Given the description of an element on the screen output the (x, y) to click on. 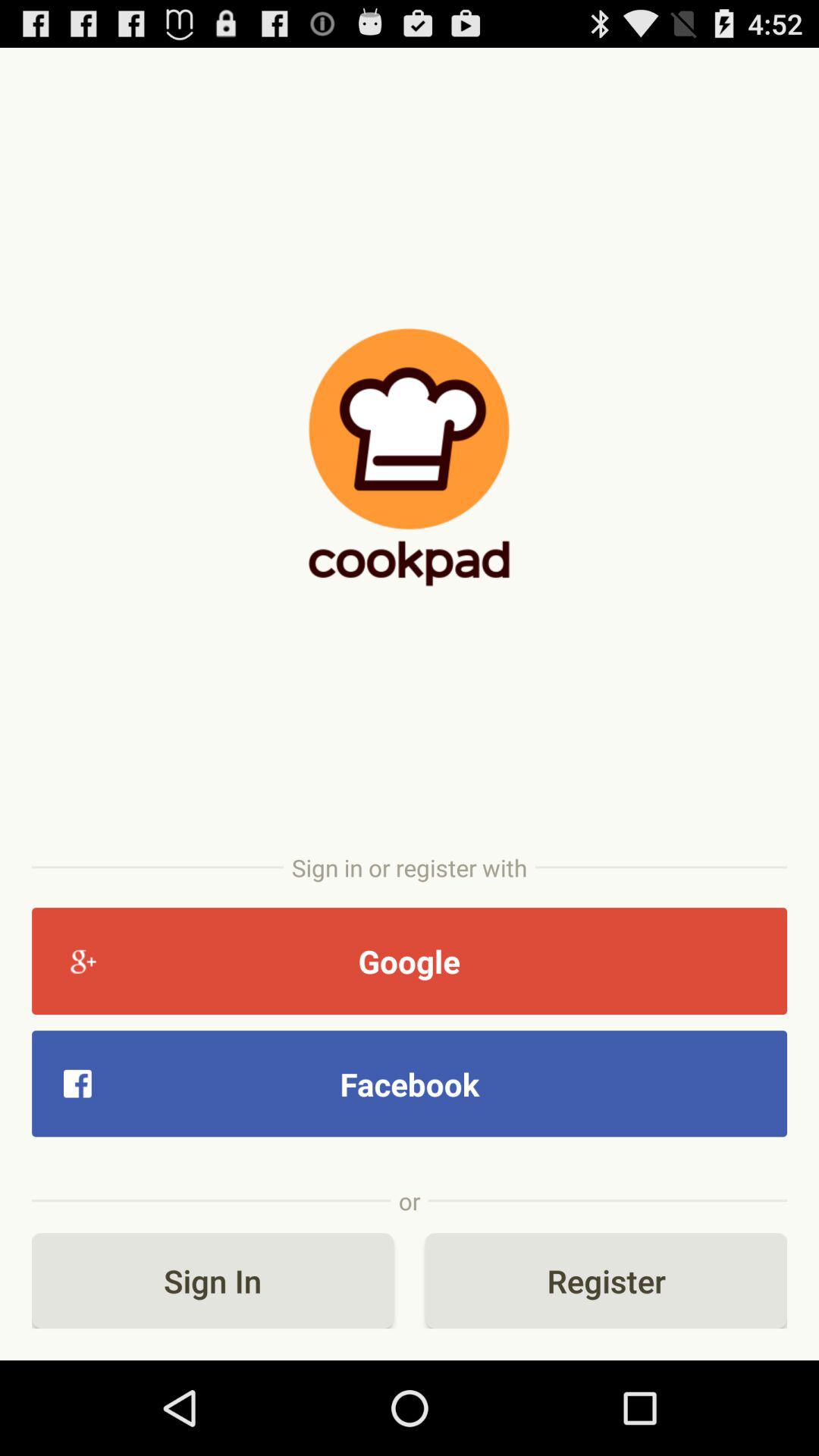
click facebook item (409, 1083)
